Given the description of an element on the screen output the (x, y) to click on. 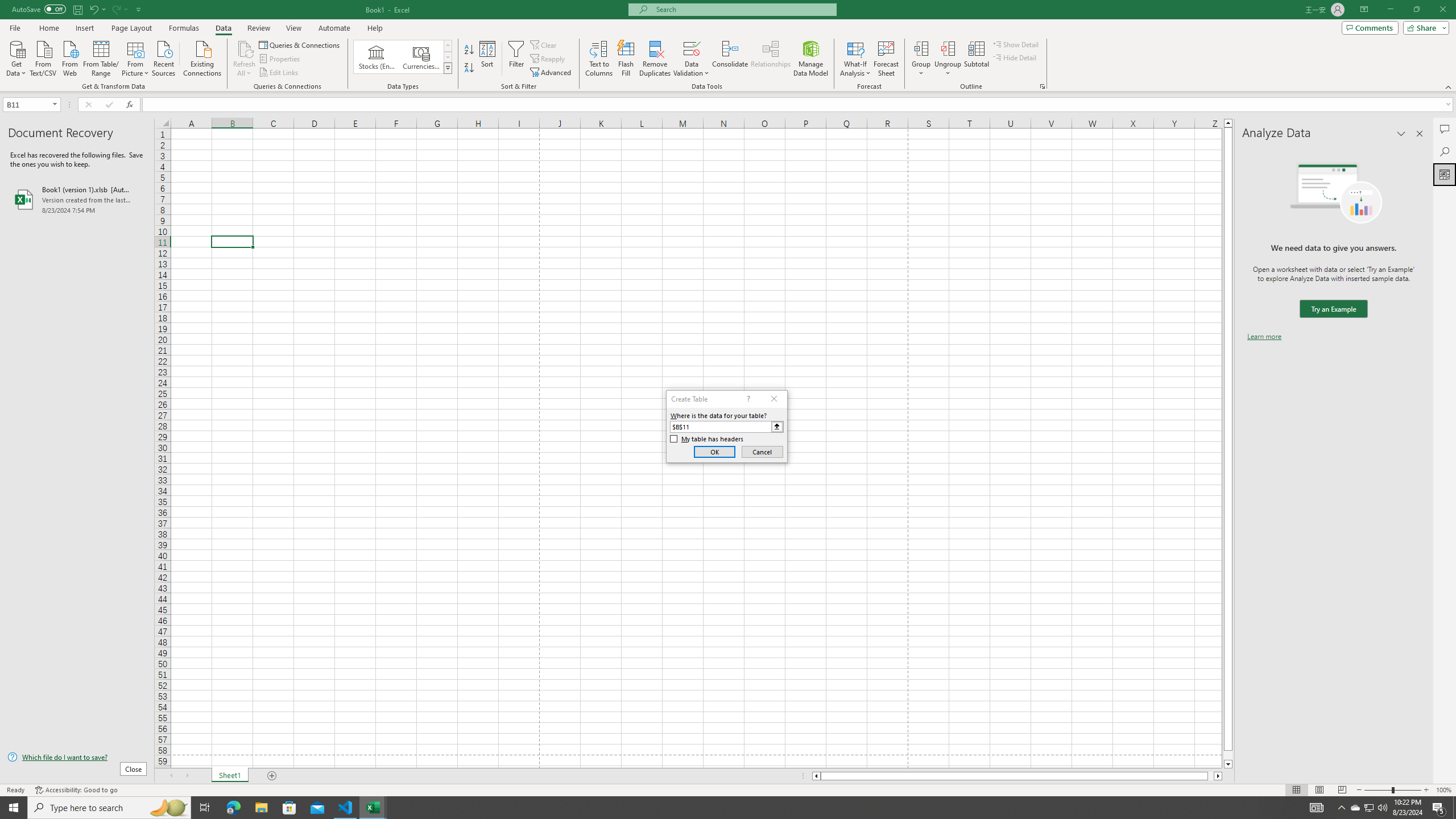
Normal (1296, 790)
Restore Down (1416, 9)
Home (48, 28)
Manage Data Model (810, 58)
Properties (280, 58)
Relationships (770, 58)
Comments (1444, 128)
Automate (334, 28)
Sort A to Z (469, 49)
Add Sheet (272, 775)
Class: NetUIScrollBar (1016, 775)
Group... (921, 48)
Collapse the Ribbon (1448, 86)
Open (54, 104)
Zoom (1392, 790)
